Given the description of an element on the screen output the (x, y) to click on. 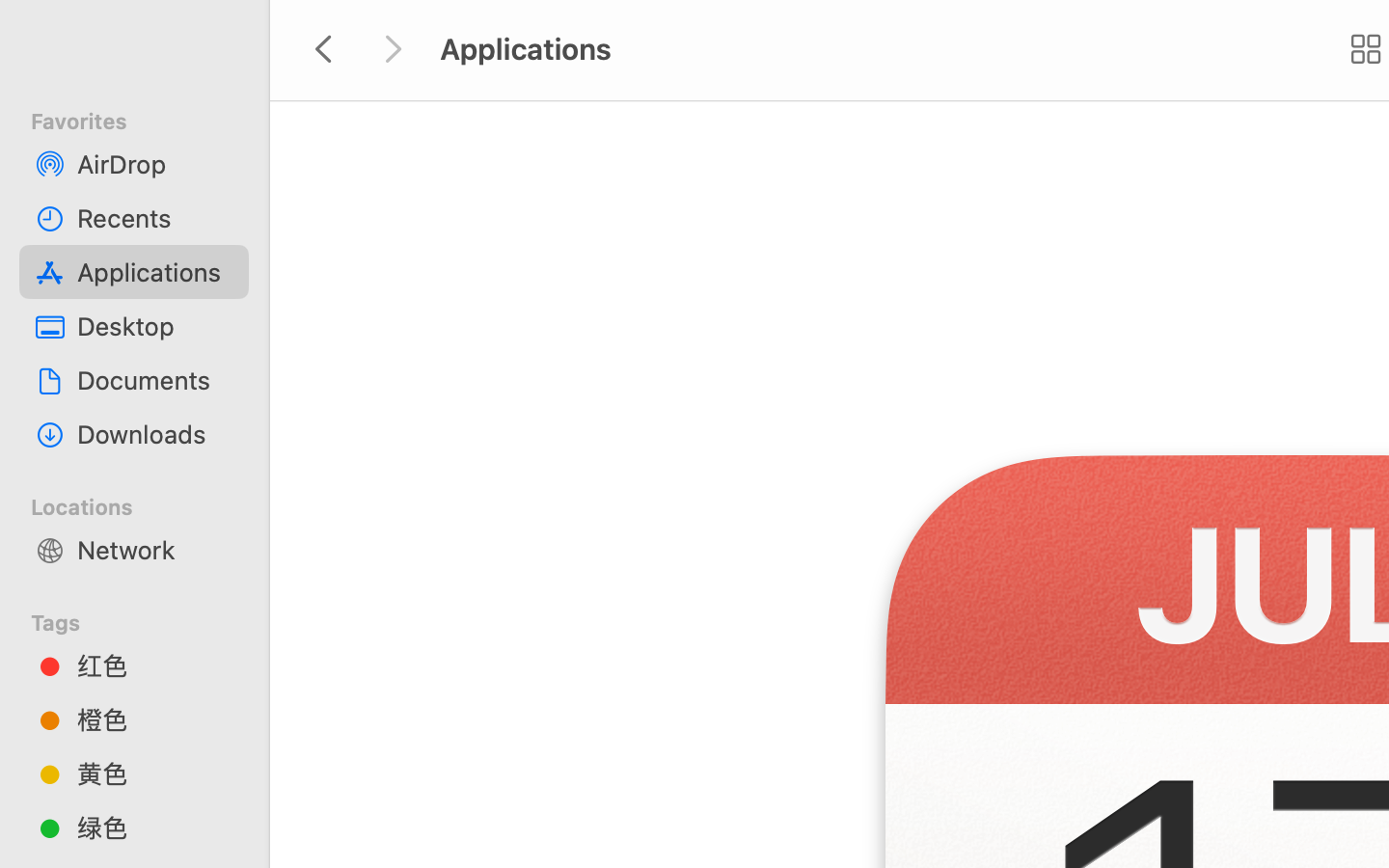
绿色 Element type: AXStaticText (155, 827)
红色 Element type: AXStaticText (155, 665)
Applications Element type: AXStaticText (155, 271)
AirDrop Element type: AXStaticText (155, 163)
Network Element type: AXStaticText (155, 549)
